Given the description of an element on the screen output the (x, y) to click on. 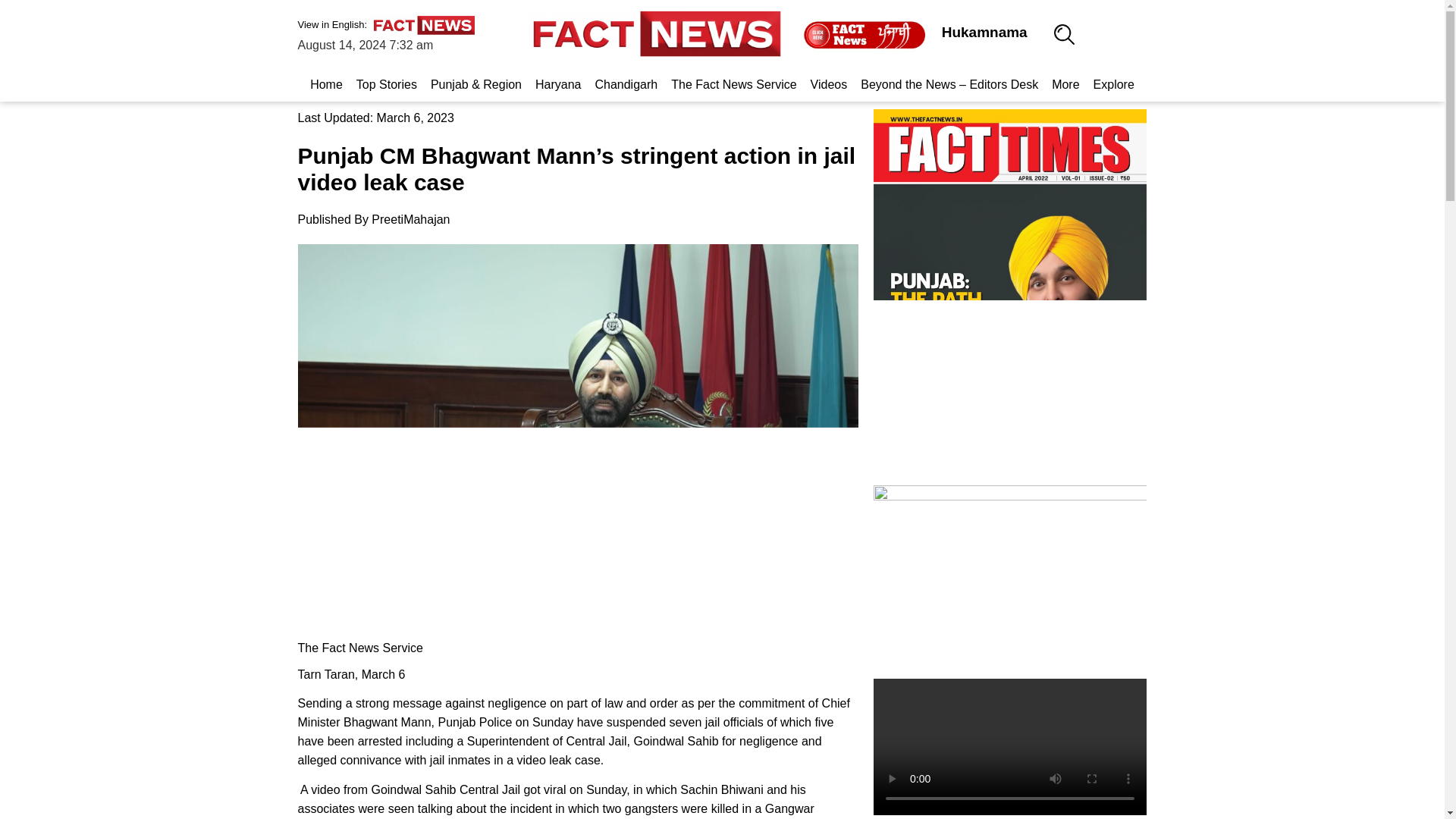
Chandigarh (625, 84)
Home (325, 84)
The Fact News Service (733, 84)
Top Stories (386, 84)
Explore (1113, 84)
Videos (828, 84)
More (1065, 84)
Haryana (558, 84)
Hukamnama (984, 32)
